Given the description of an element on the screen output the (x, y) to click on. 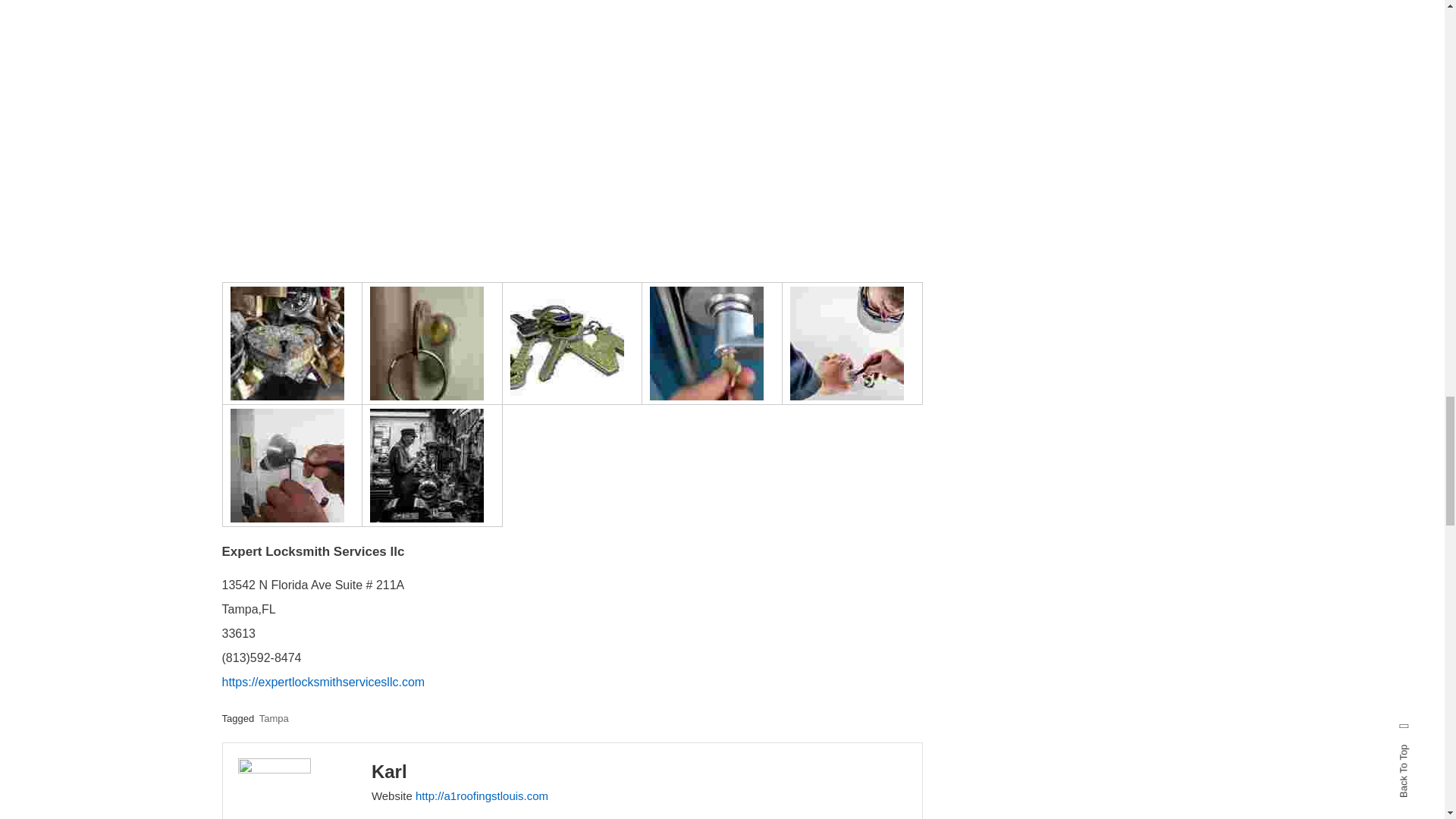
Choosing the best locksmith Tampa 813-592-8474 (426, 465)
Posts by Karl (389, 771)
Choosing the best locksmith Tampa 813-592-8474 (286, 465)
Choosing the best locksmith Tampa 813-592-8474 (705, 343)
Choosing the best locksmith Tampa 813-592-8474 (567, 343)
Choosing the best locksmith Tampa 813-592-8474 (847, 343)
Choosing the best locksmith Tampa 813-592-8474 (426, 343)
Choosing the best locksmith Tampa 813-592-8474 (286, 343)
